Given the description of an element on the screen output the (x, y) to click on. 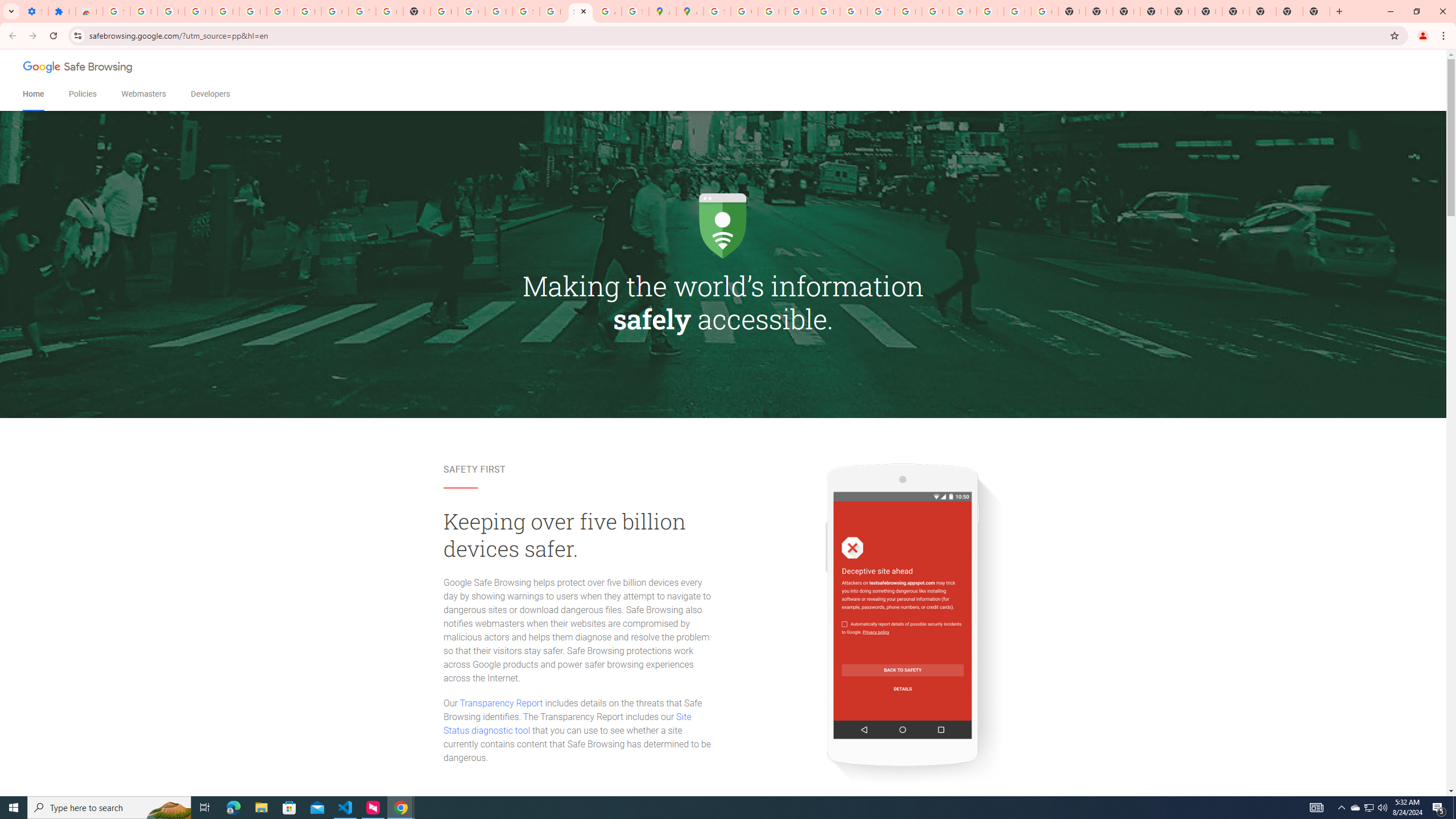
Developers (210, 94)
Delete photos & videos - Computer - Google Photos Help (197, 11)
Safety in Our Products - Google Safety Center (634, 11)
Transparency Report (501, 703)
Sign in - Google Accounts (280, 11)
Learn how to find your photos - Google Photos Help (225, 11)
